Given the description of an element on the screen output the (x, y) to click on. 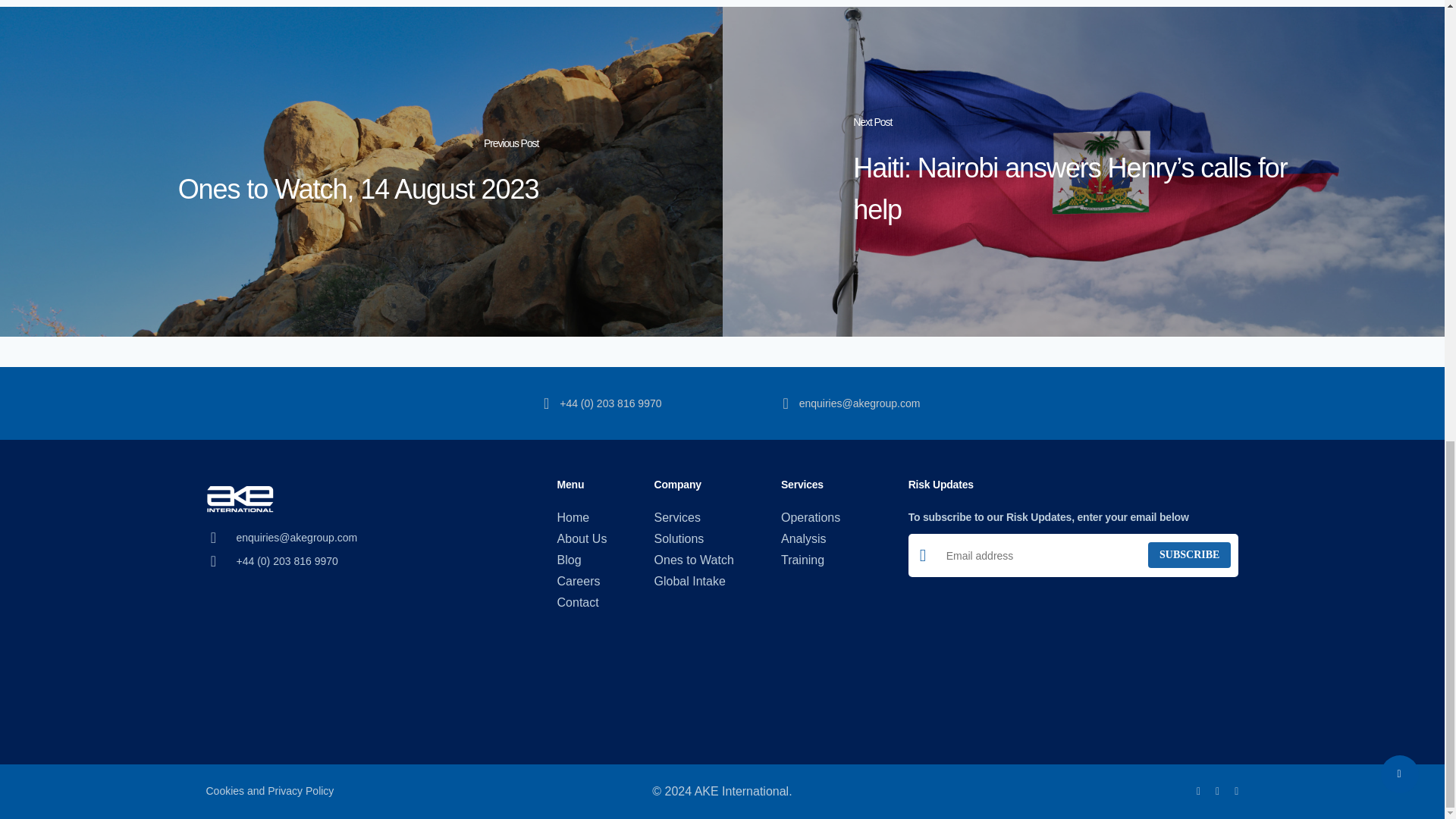
About Us (582, 538)
SUBSCRIBE (1189, 555)
Home (582, 516)
